Given the description of an element on the screen output the (x, y) to click on. 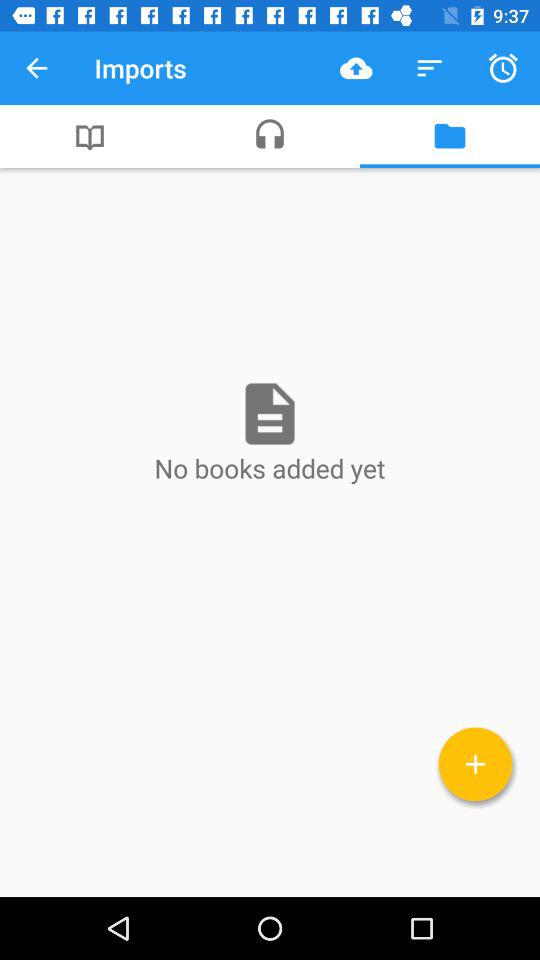
add new book (475, 764)
